Given the description of an element on the screen output the (x, y) to click on. 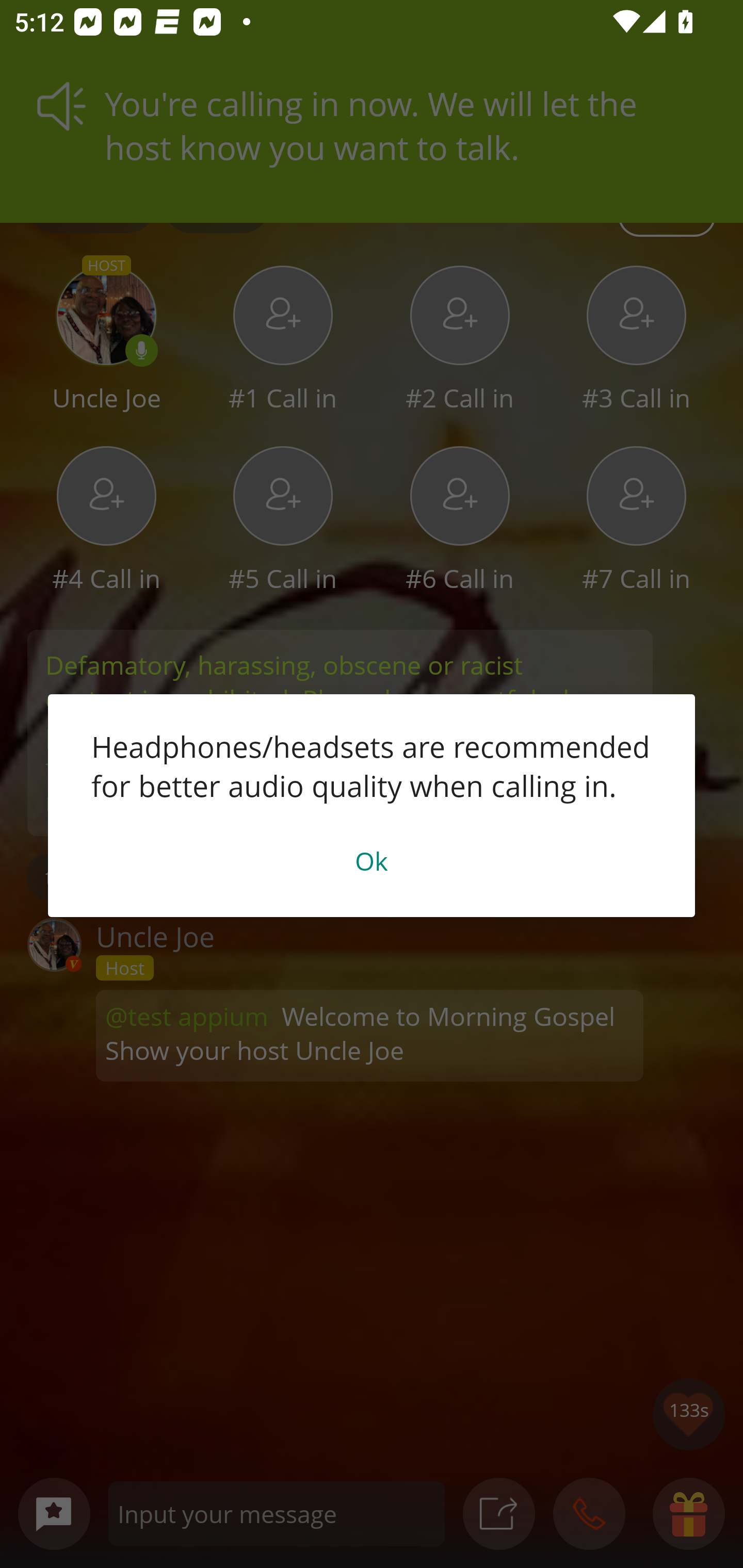
Ok (371, 860)
